Given the description of an element on the screen output the (x, y) to click on. 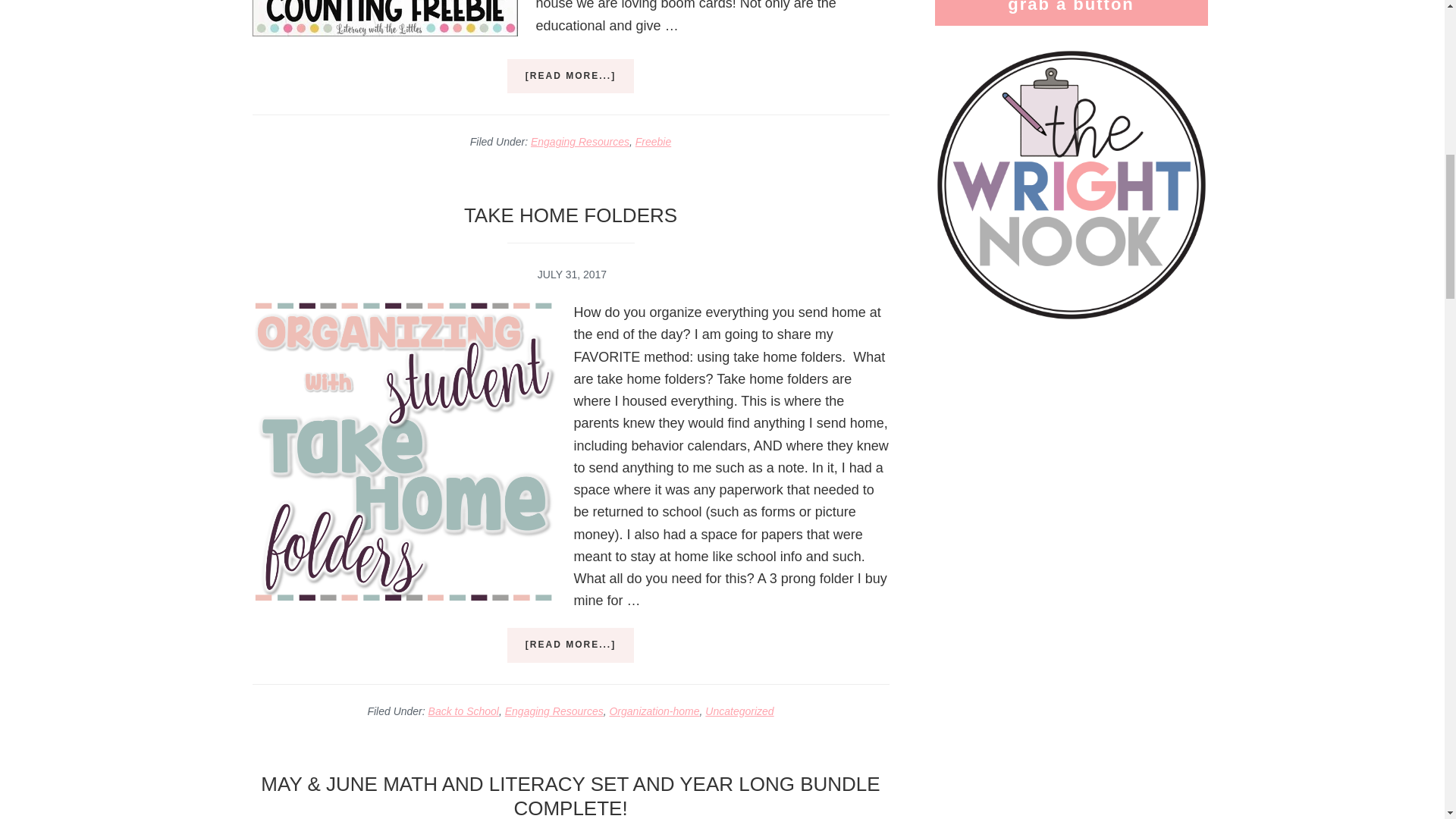
Freebie (652, 141)
Engaging Resources (554, 711)
Engaging Resources (579, 141)
Back to School (463, 711)
Uncategorized (738, 711)
Organization-home (653, 711)
TAKE HOME FOLDERS (570, 214)
